Given the description of an element on the screen output the (x, y) to click on. 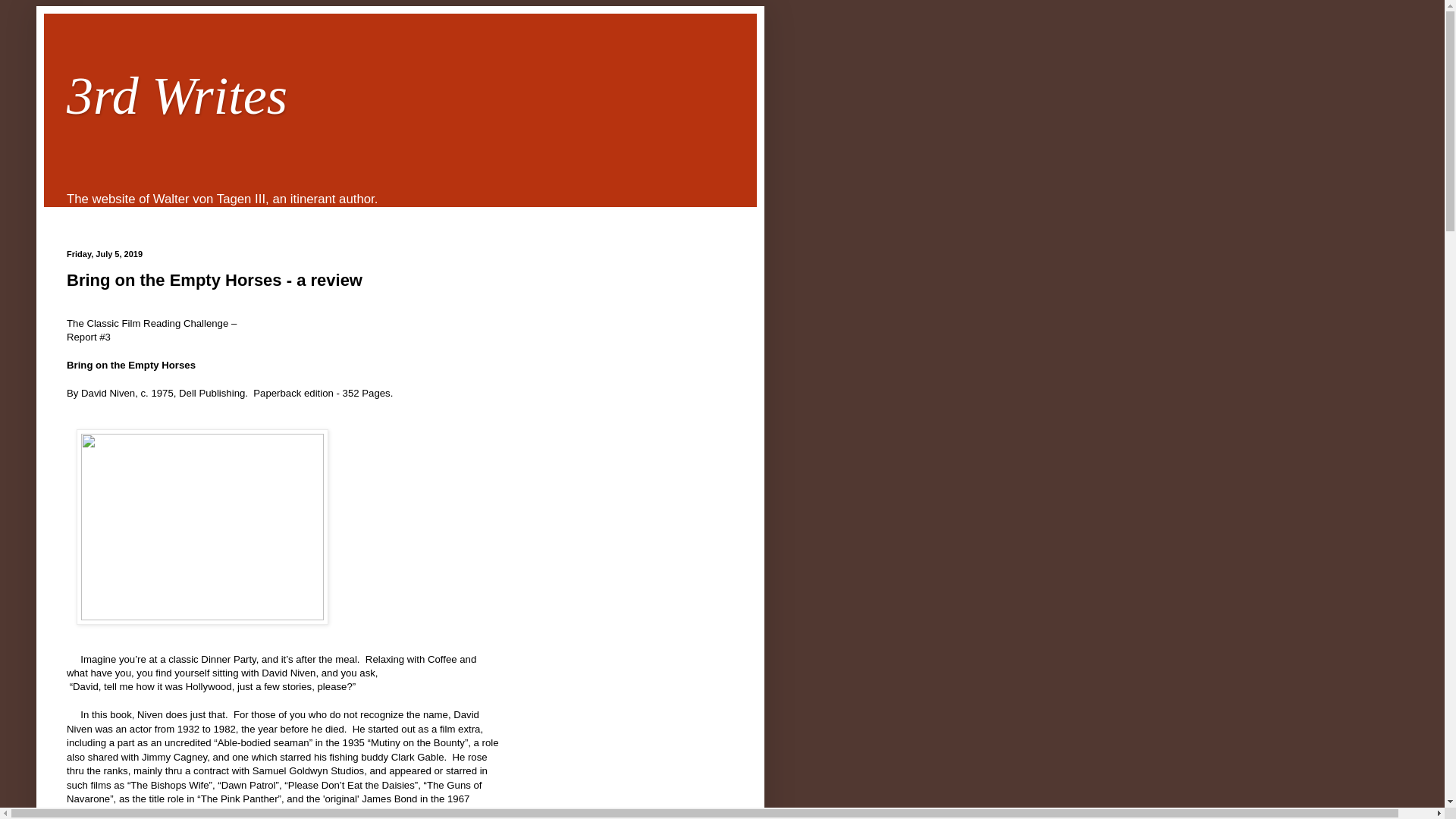
3rd Writes Element type: text (176, 95)
